Given the description of an element on the screen output the (x, y) to click on. 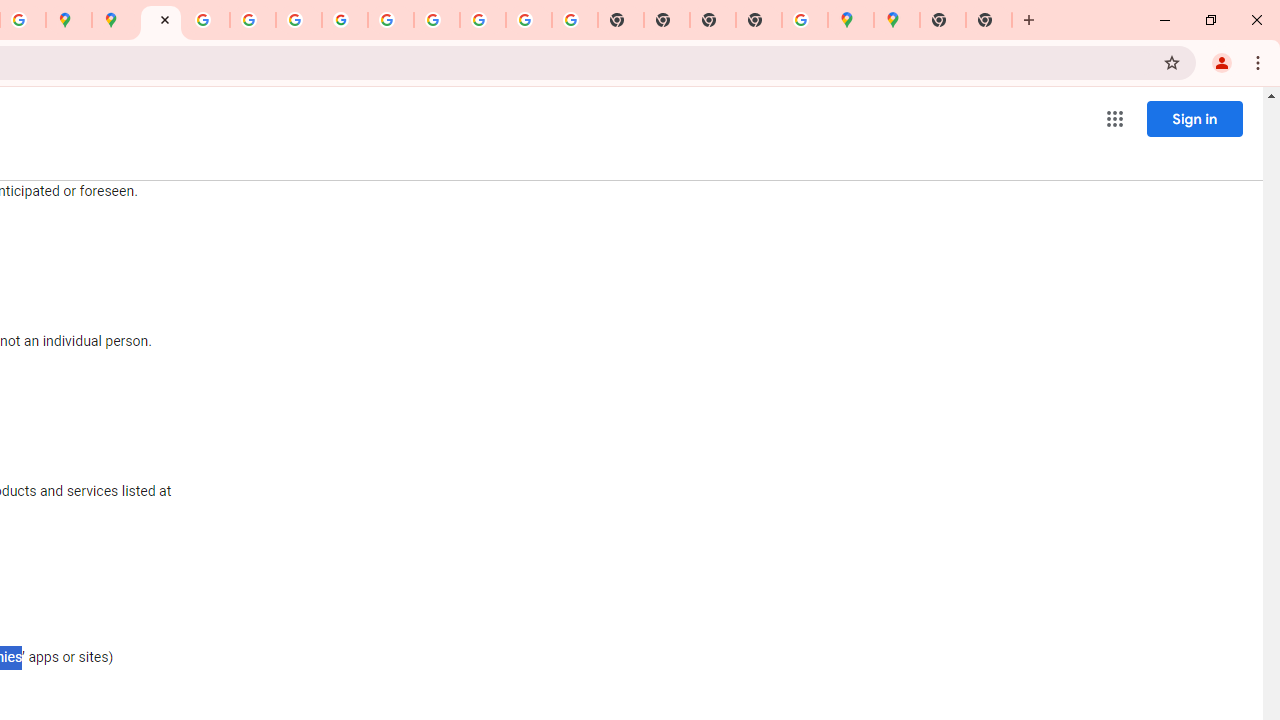
Google Maps (851, 20)
New Tab (759, 20)
YouTube (390, 20)
